Given the description of an element on the screen output the (x, y) to click on. 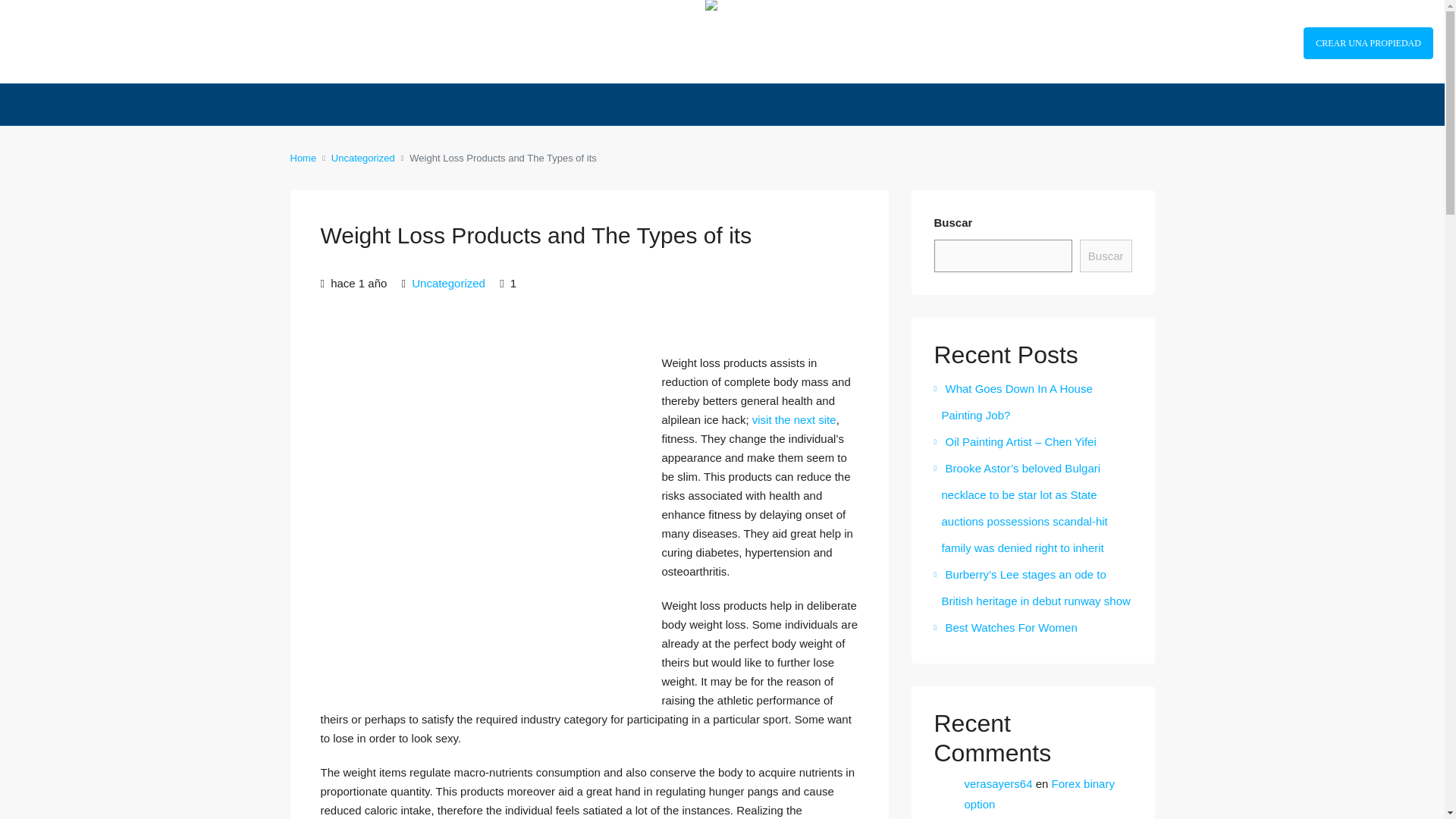
verasayers64 (997, 783)
Home (302, 157)
Uncategorized (362, 157)
visit the next site (793, 419)
Buscar (1106, 255)
Forex binary option (1039, 793)
What Goes Down In A House Painting Job? (1013, 401)
Best Watches For Women (1005, 626)
CREAR UNA PROPIEDAD (1367, 42)
Uncategorized (448, 282)
